Given the description of an element on the screen output the (x, y) to click on. 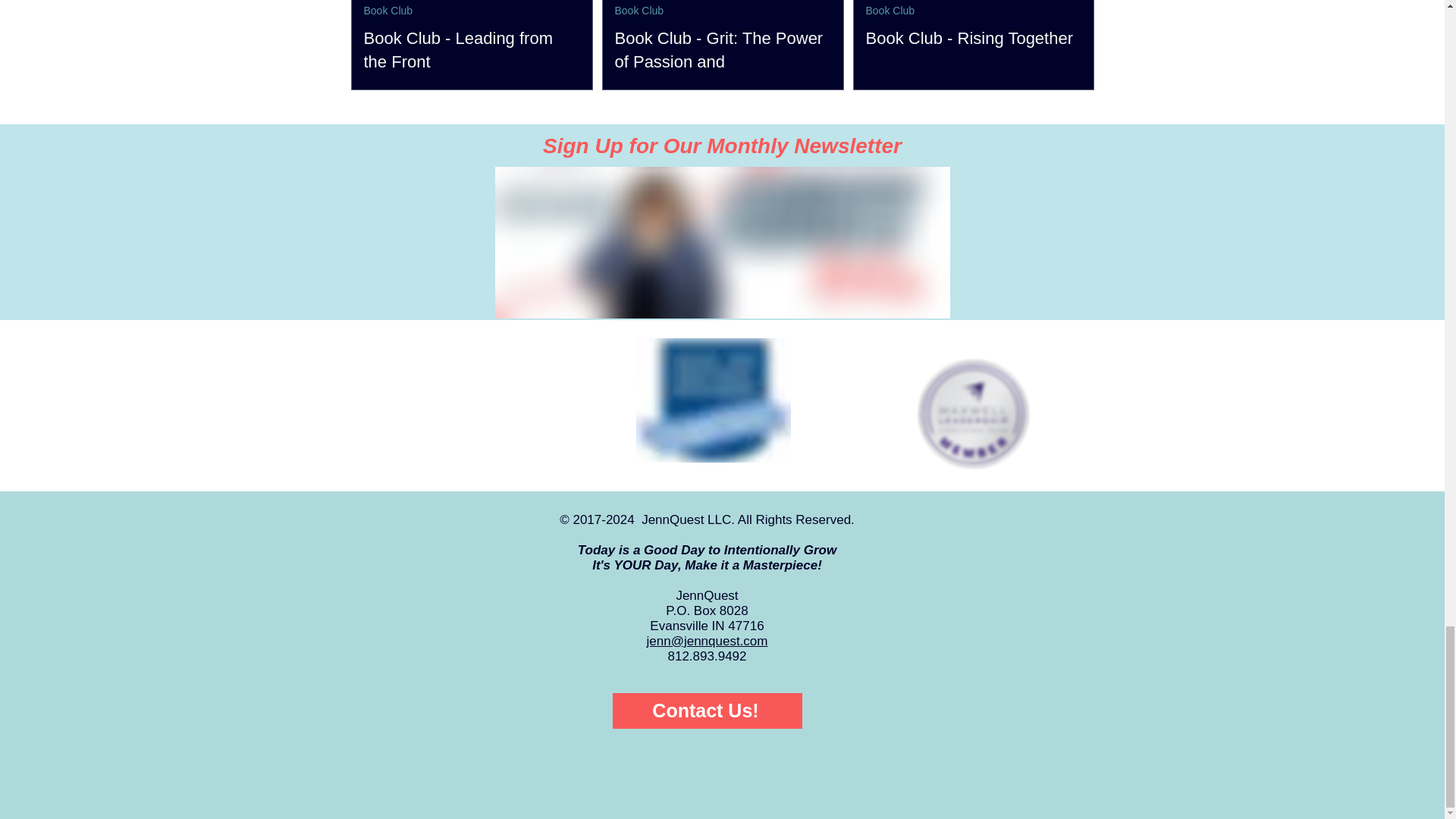
Book Club (388, 10)
Book Club (890, 10)
Book Club - Rising Together (973, 38)
Book Club - Leading from the Front (471, 50)
Book Club (638, 10)
Book Club - Grit: The Power of Passion and Perseverance (721, 62)
